Given the description of an element on the screen output the (x, y) to click on. 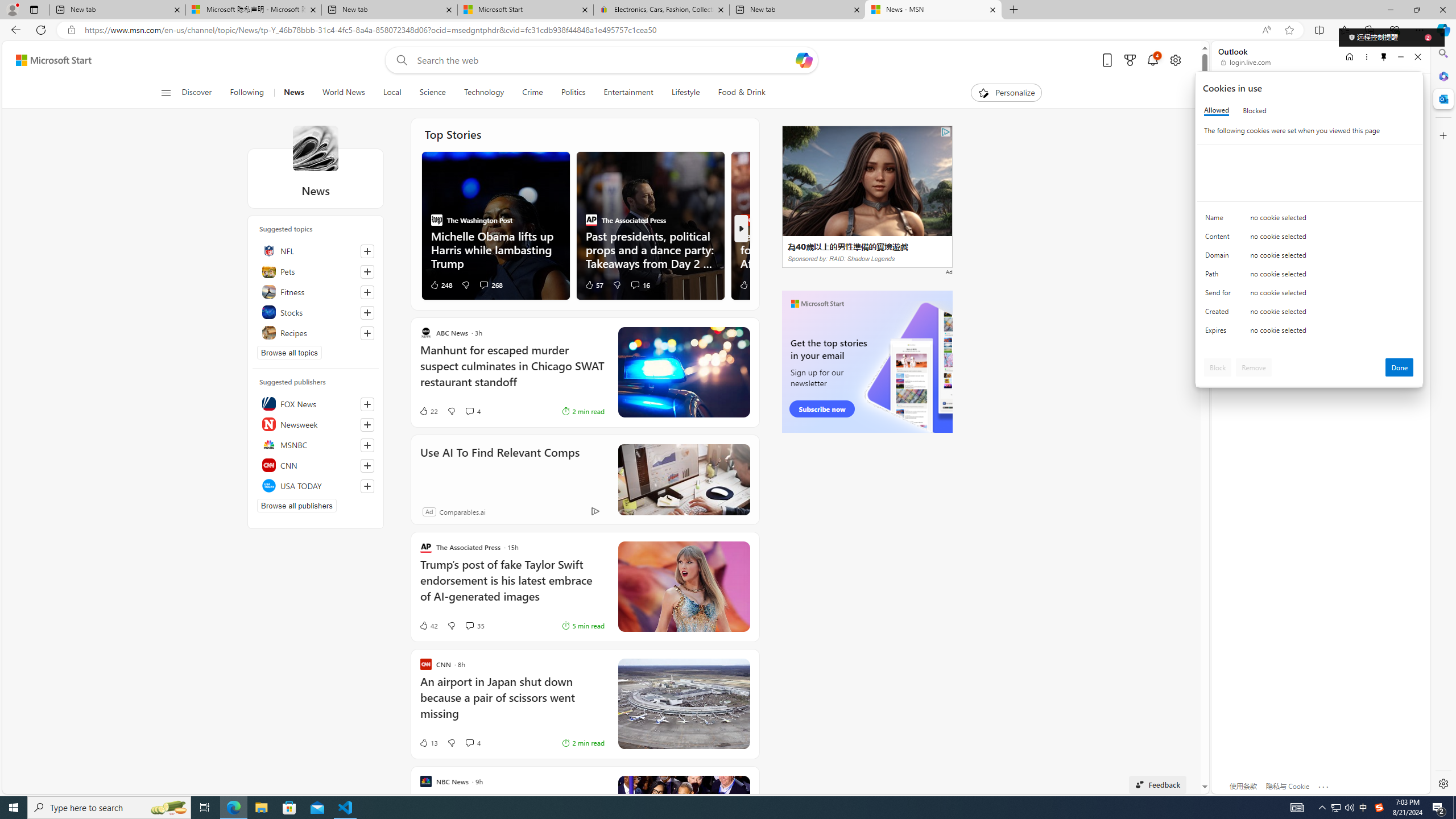
171 Like (749, 284)
View comments 16 Comment (634, 284)
Send for (1219, 295)
Content (1219, 239)
Newsweek (315, 424)
Ad Choice (595, 511)
Follow this source (367, 486)
no cookie selected (1331, 332)
Science (432, 92)
